Given the description of an element on the screen output the (x, y) to click on. 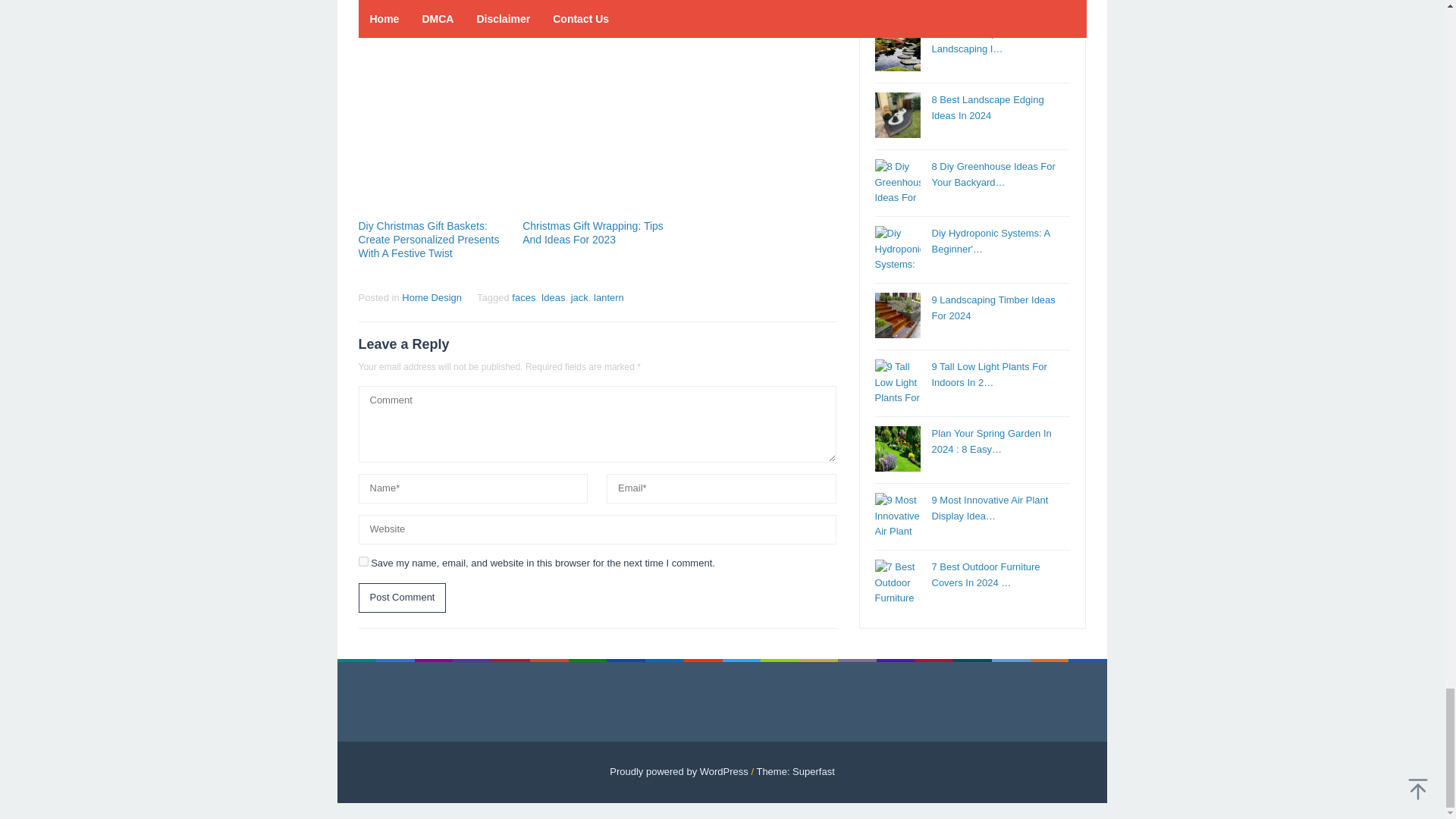
jack (579, 297)
Proudly powered by WordPress (679, 771)
yes (363, 561)
Post Comment (401, 597)
lantern (609, 297)
Christmas Gift Wrapping: Tips And Ideas For 2023 (592, 232)
Ideas (553, 297)
faces (523, 297)
Post Comment (401, 597)
Home Design (431, 297)
